Given the description of an element on the screen output the (x, y) to click on. 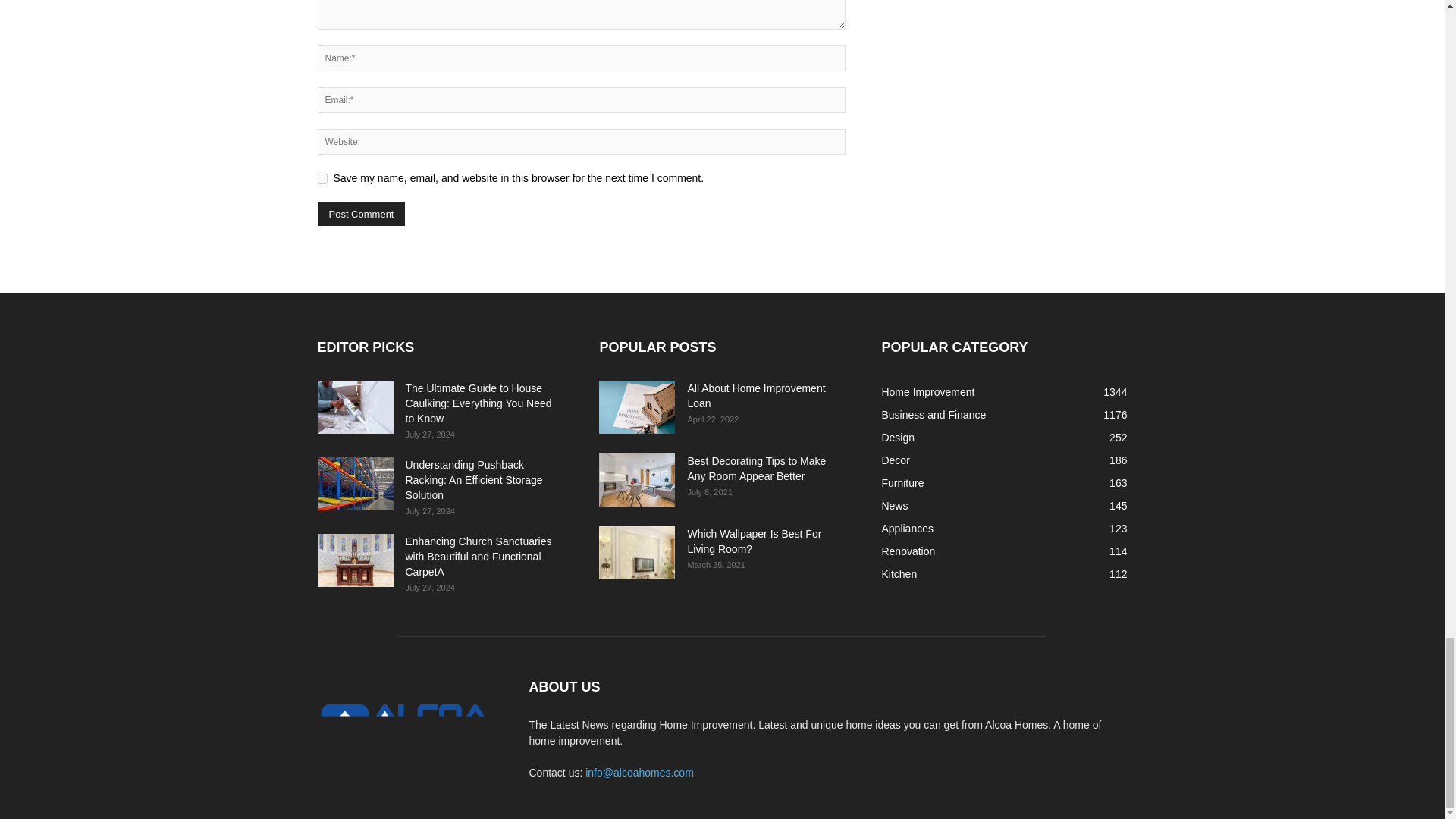
Post Comment (360, 214)
yes (321, 178)
